Given the description of an element on the screen output the (x, y) to click on. 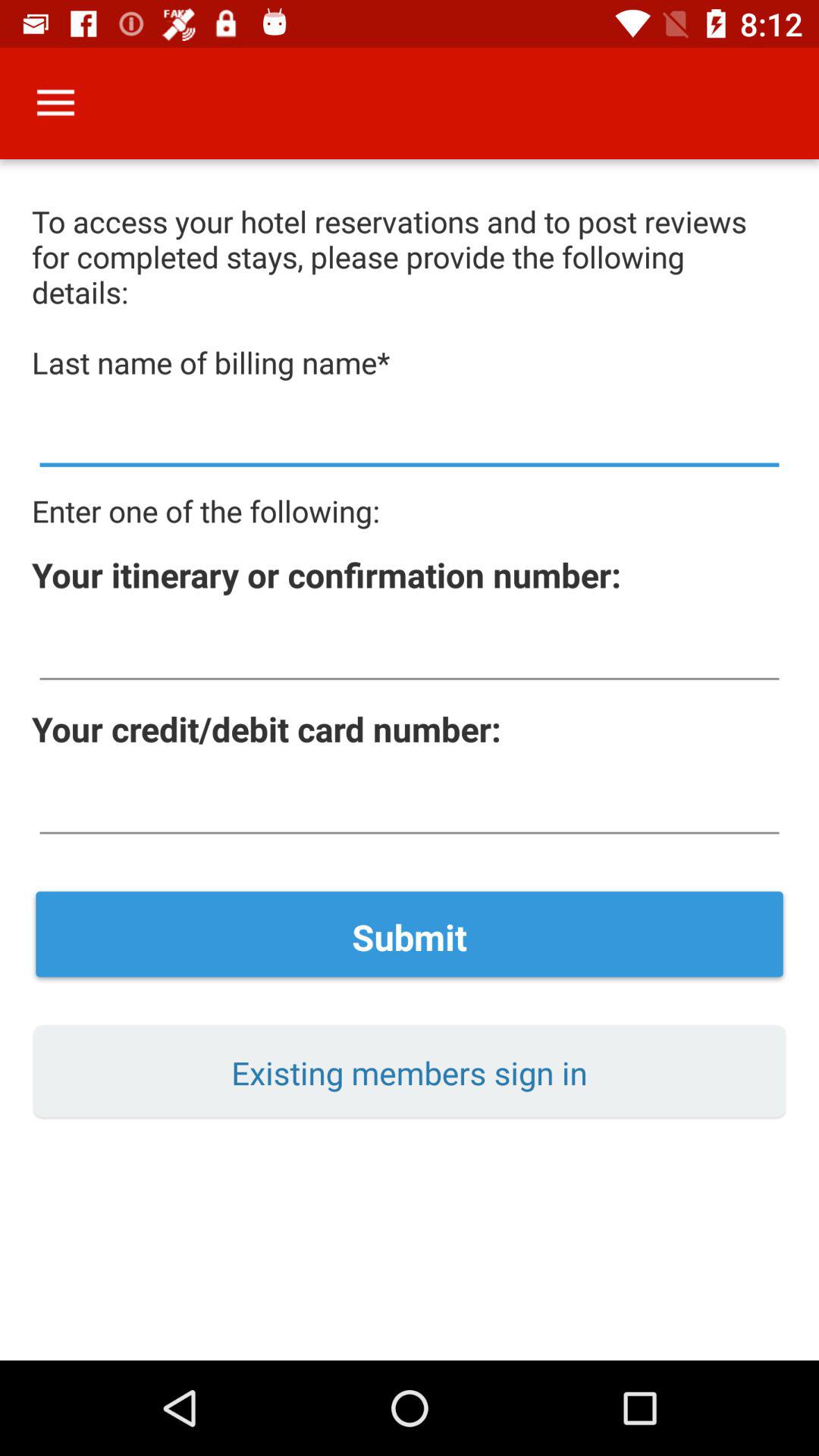
turn off icon at the top left corner (55, 103)
